Given the description of an element on the screen output the (x, y) to click on. 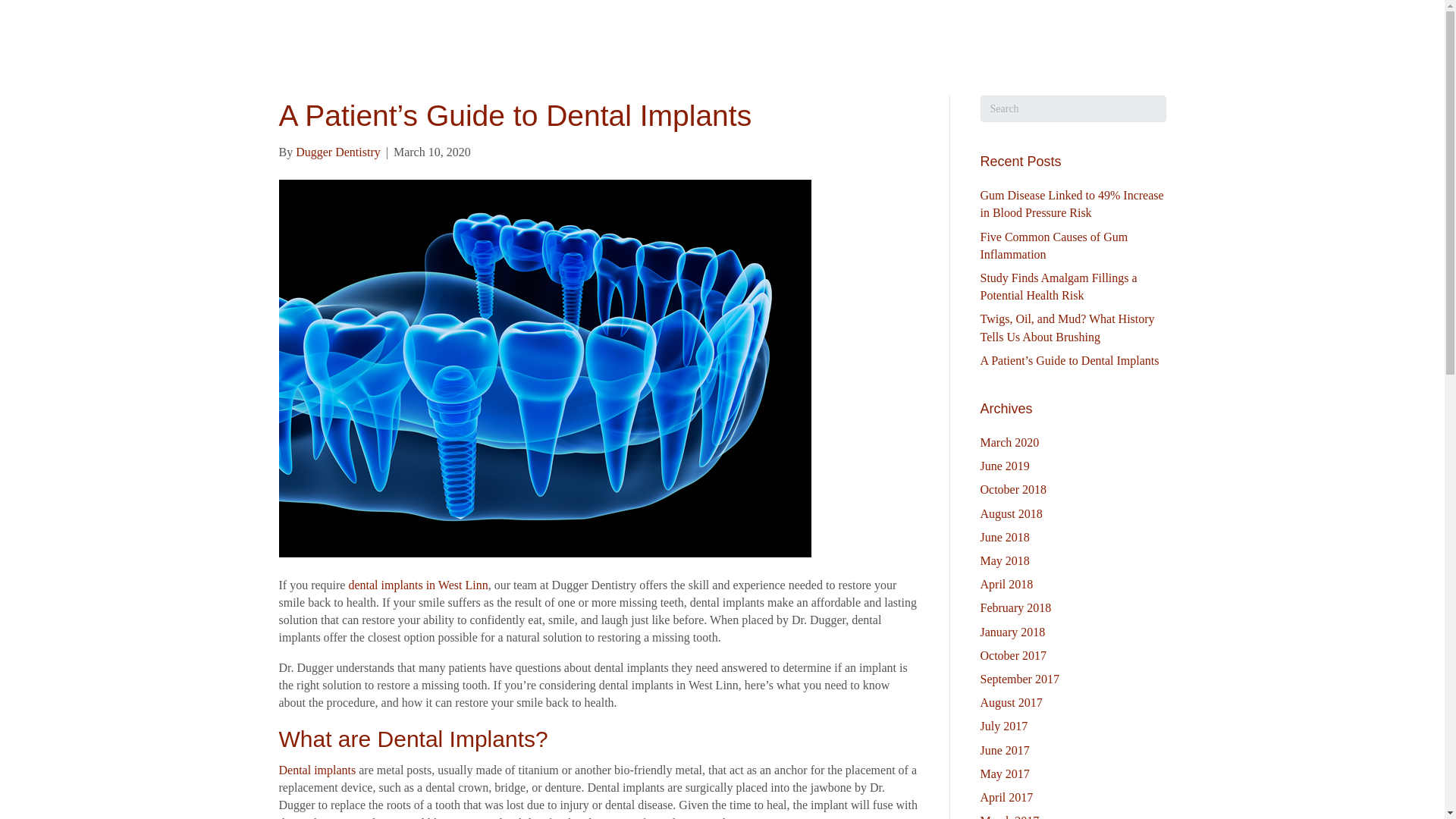
dental implants in West Linn (417, 584)
Dental implants (317, 769)
Type and press Enter to search. (1072, 108)
Dugger Dentistry (337, 151)
Five Common Causes of Gum Inflammation (1052, 245)
Twigs, Oil, and Mud? What History Tells Us About Brushing (1066, 327)
Study Finds Amalgam Fillings a Potential Health Risk (1058, 286)
